Given the description of an element on the screen output the (x, y) to click on. 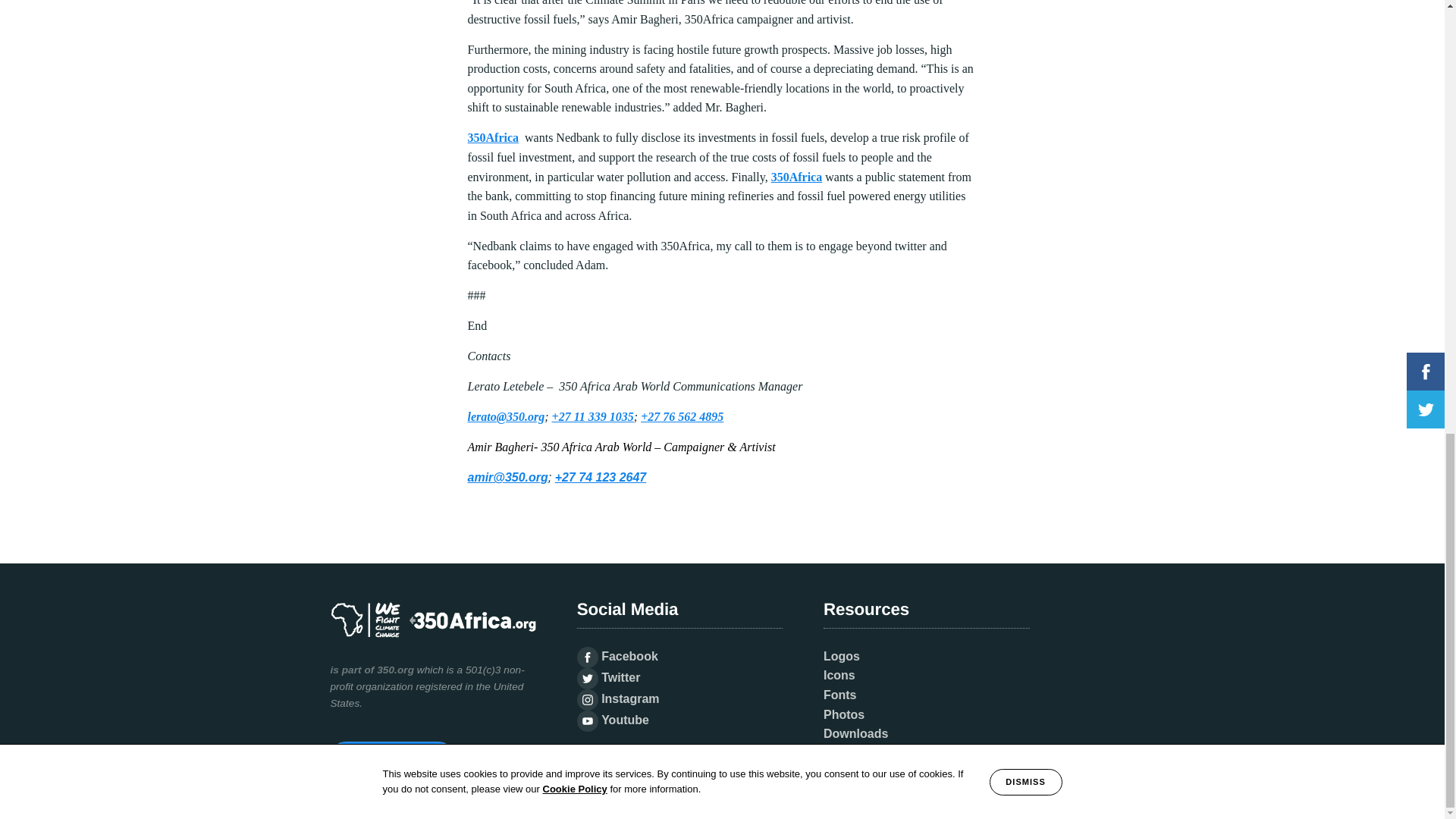
350Africa (796, 176)
350Africa (492, 137)
